Given the description of an element on the screen output the (x, y) to click on. 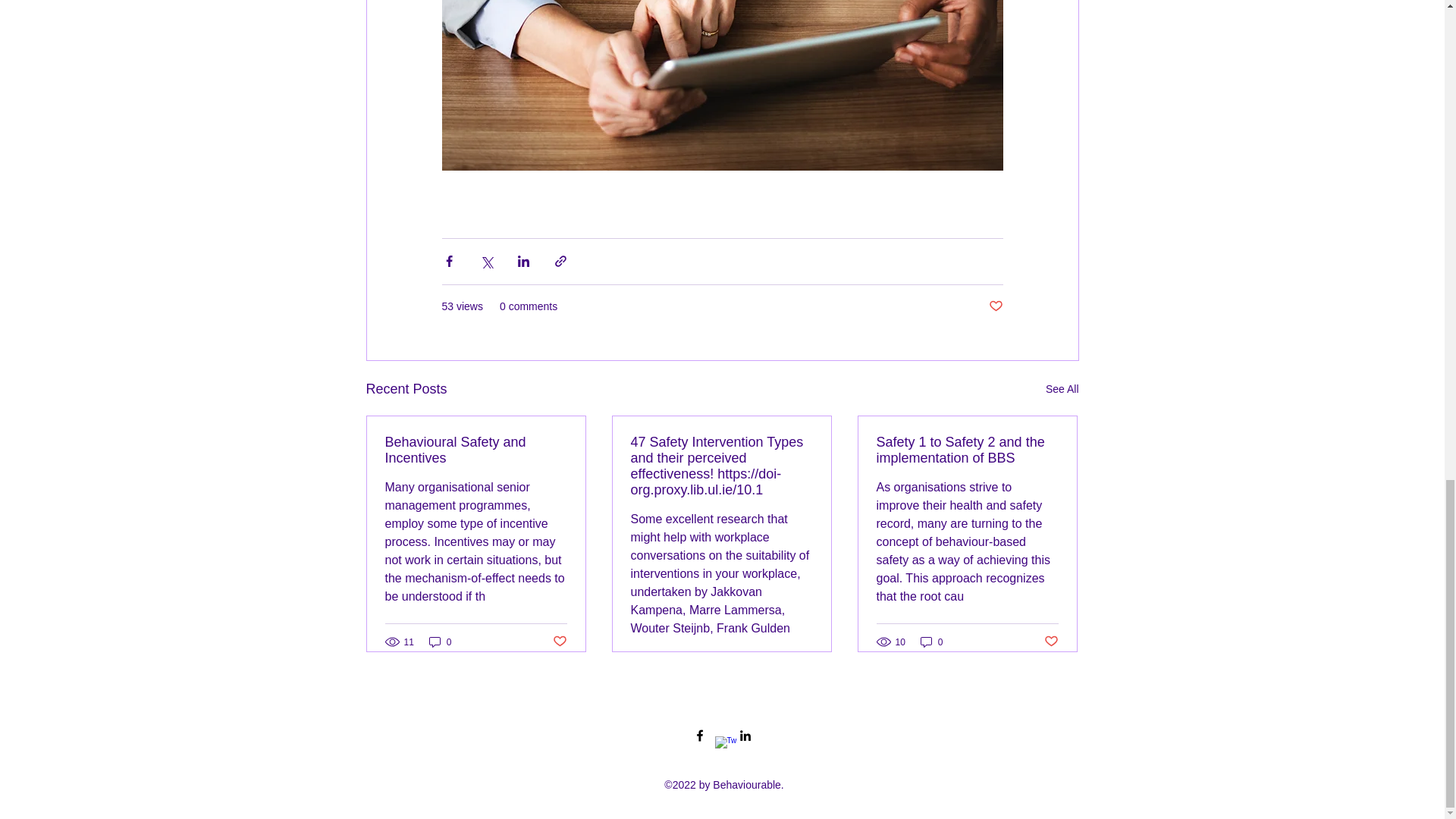
Post not marked as liked (995, 306)
Post not marked as liked (1050, 641)
See All (1061, 389)
0 (931, 641)
0 (440, 641)
Behavioural Safety and Incentives (476, 450)
Safety 1 to Safety 2 and the implementation of BBS (967, 450)
Post not marked as liked (558, 641)
